Given the description of an element on the screen output the (x, y) to click on. 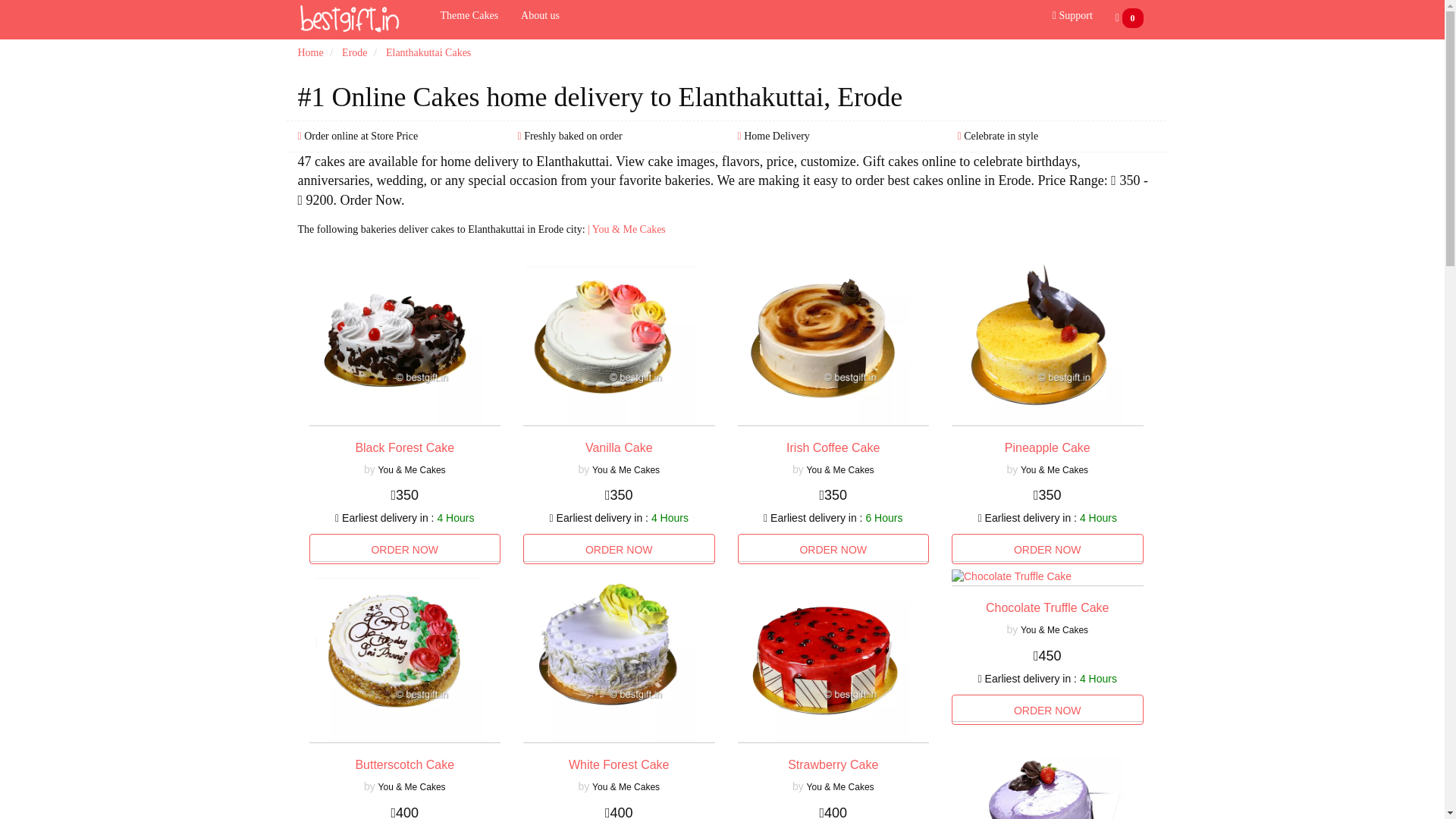
Gift Strawberry Cake in Erode (832, 764)
Irish Coffee Cake (832, 447)
Buy Black Forest Cake in Erode  (404, 548)
Buy Irish Coffee Cake in Erode  (832, 548)
Theme Cakes (470, 15)
Vanilla Cake (618, 447)
Home (310, 52)
Butterscotch Cake (404, 764)
by (585, 468)
by (799, 468)
